Given the description of an element on the screen output the (x, y) to click on. 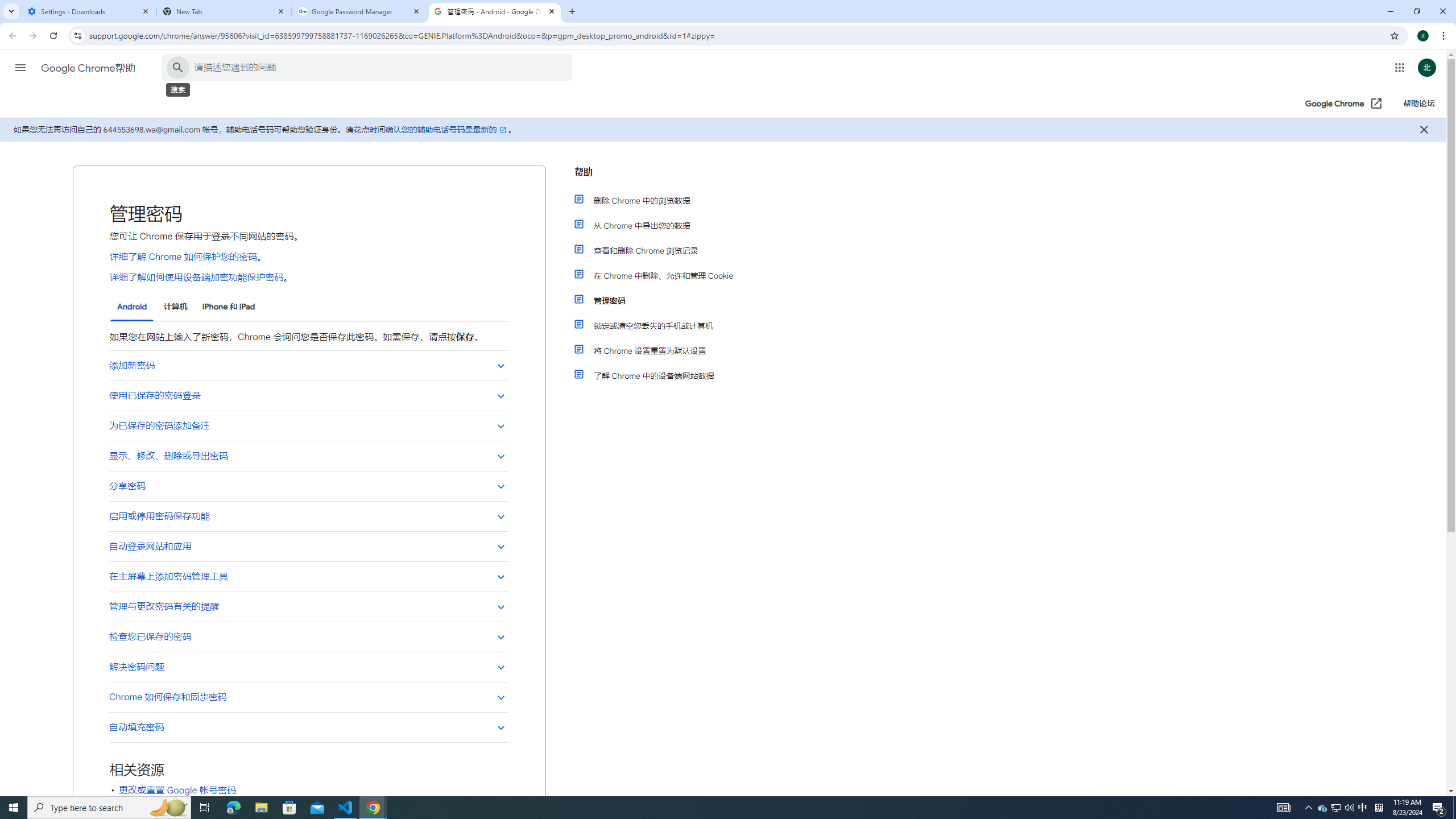
Android (131, 307)
